Given the description of an element on the screen output the (x, y) to click on. 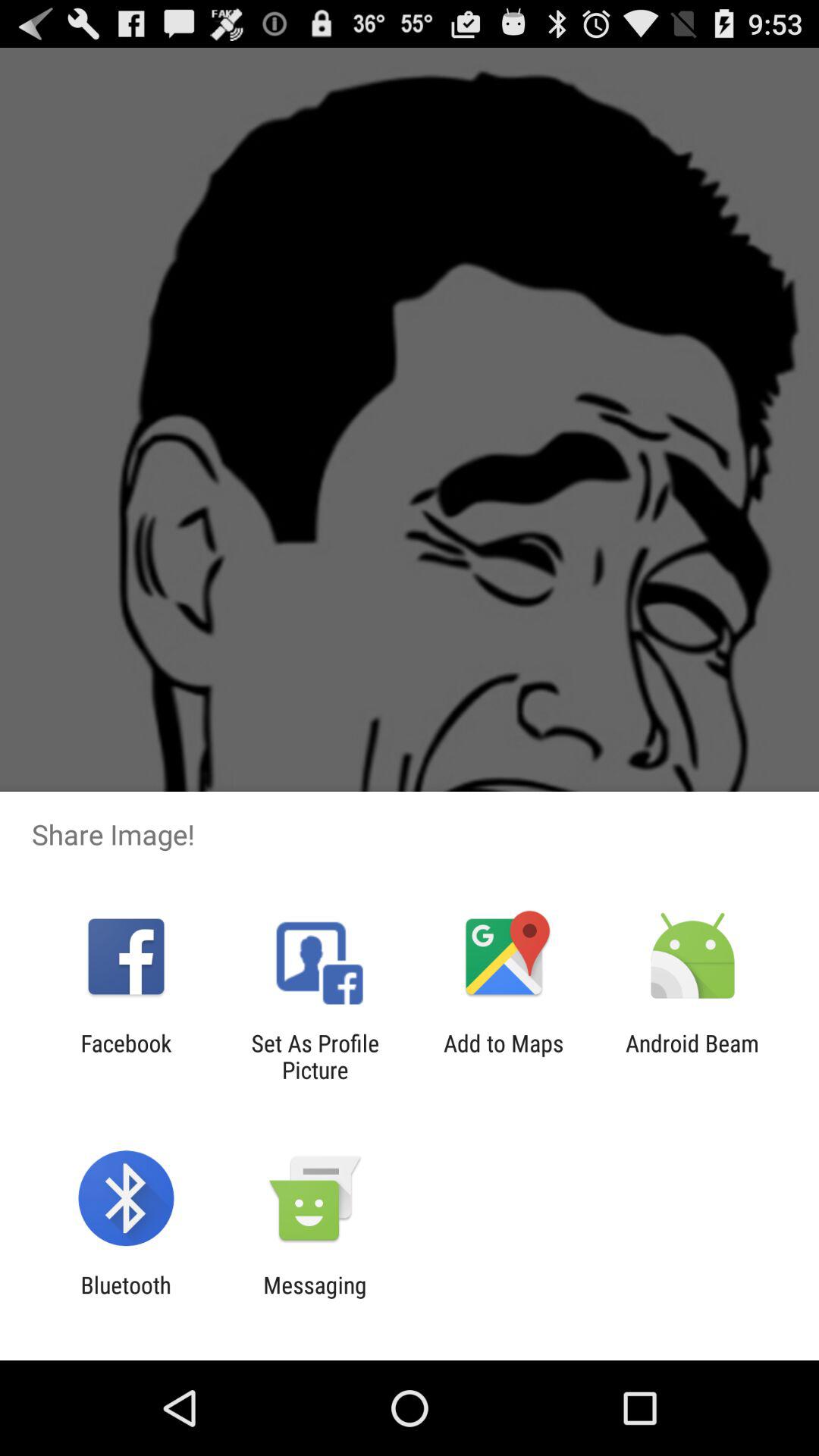
open the app next to the add to maps icon (692, 1056)
